Given the description of an element on the screen output the (x, y) to click on. 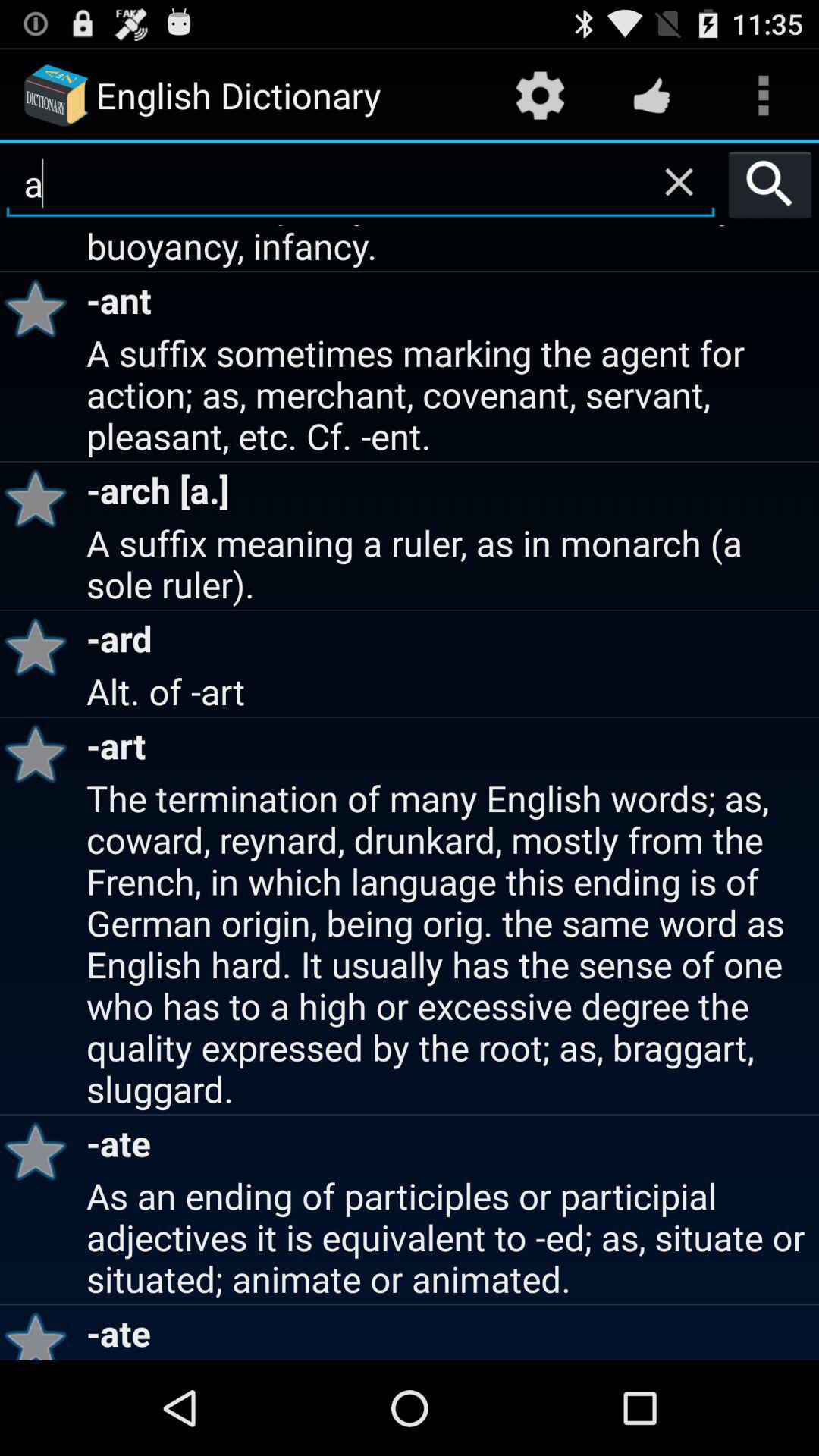
choose item next to the as an ending (41, 1332)
